Given the description of an element on the screen output the (x, y) to click on. 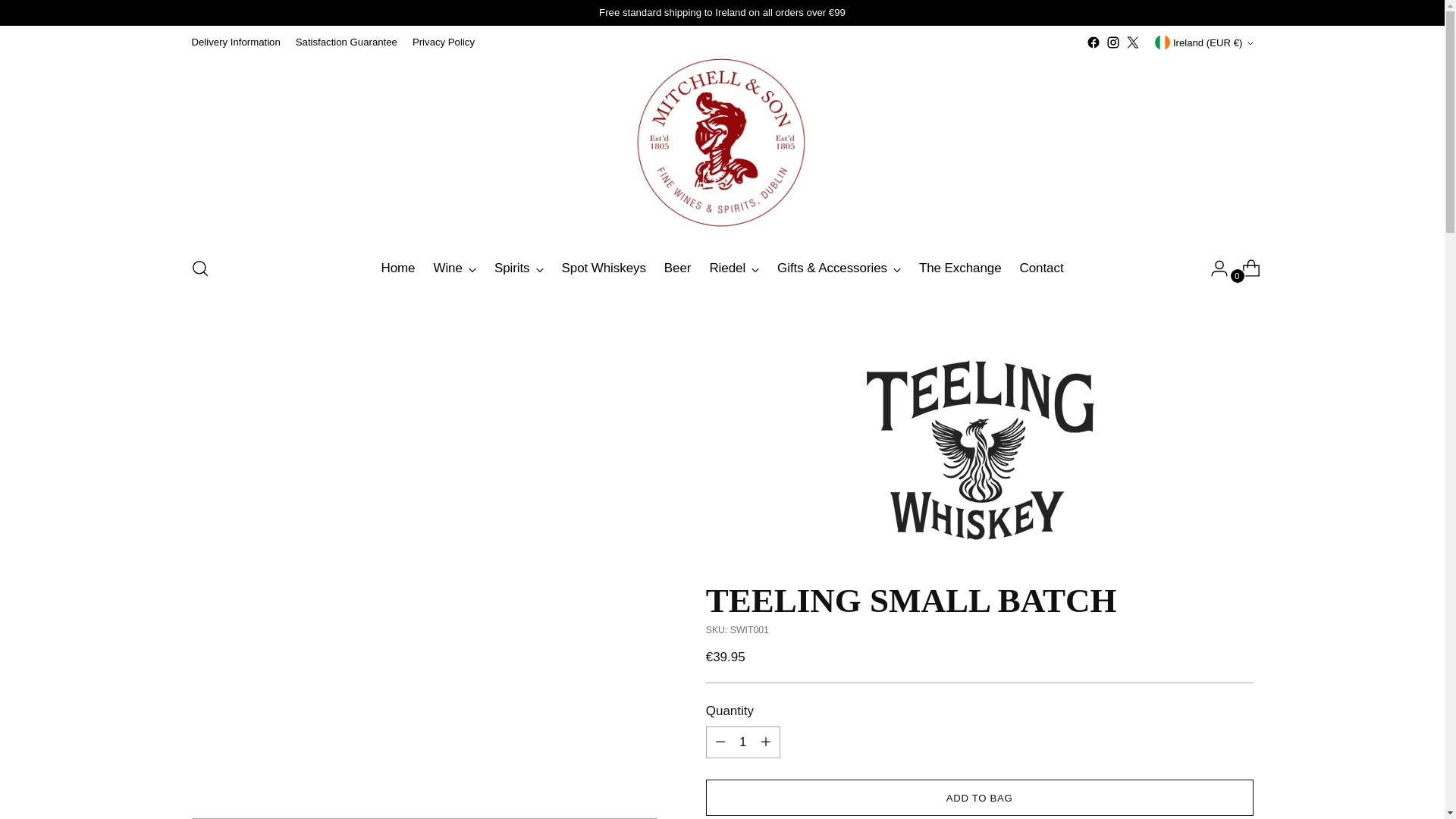
Mitchell and Son on Facebook (1093, 42)
Privacy Policy (443, 41)
Mitchell and Son on Instagram (1112, 42)
Mitchell and Son on Twitter (1132, 42)
1 (743, 742)
Satisfaction Guarantee (346, 41)
Delivery Information (234, 41)
